Given the description of an element on the screen output the (x, y) to click on. 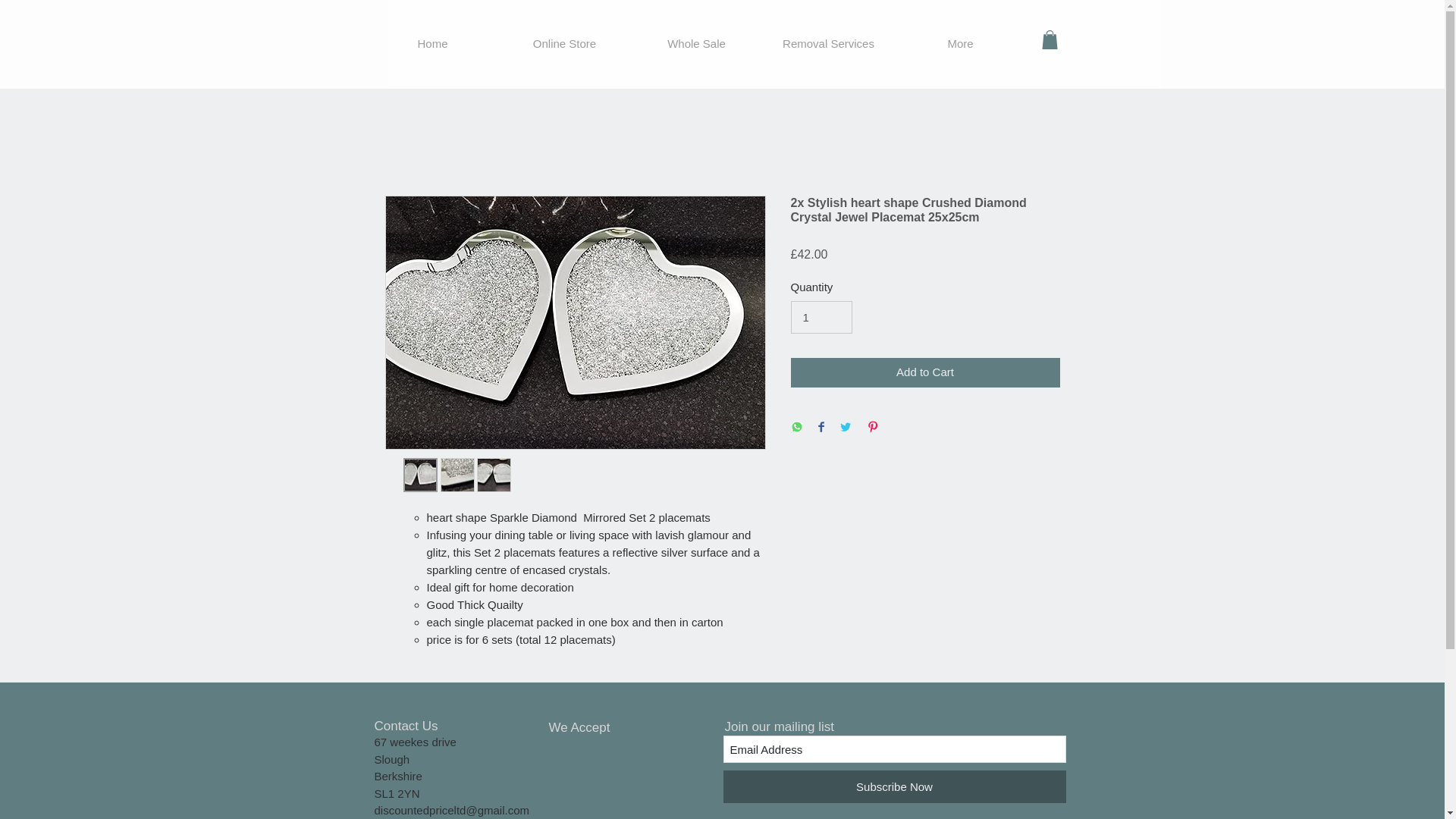
Online Store (564, 43)
Whole Sale (696, 43)
Subscribe Now (894, 786)
1 (820, 317)
Removal Services (828, 43)
Add to Cart (924, 372)
Home (432, 43)
